Given the description of an element on the screen output the (x, y) to click on. 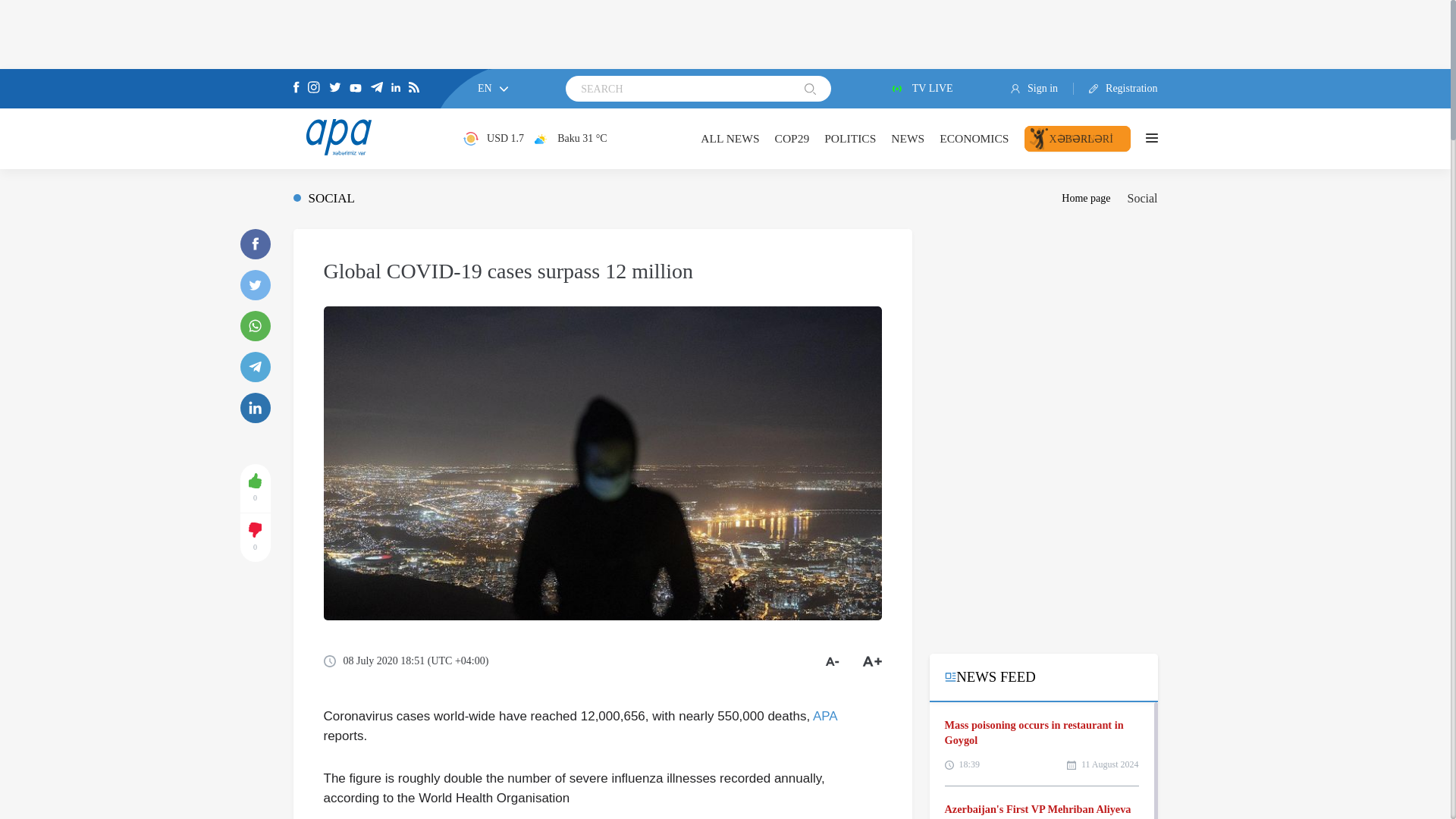
ECONOMICS (974, 138)
NEWS (907, 138)
USD 1.7 (493, 138)
ALL NEWS (729, 138)
TV LIVE (921, 88)
Sign in (1042, 88)
Registration (1115, 88)
POLITICS (850, 138)
COP29 (791, 138)
